Given the description of an element on the screen output the (x, y) to click on. 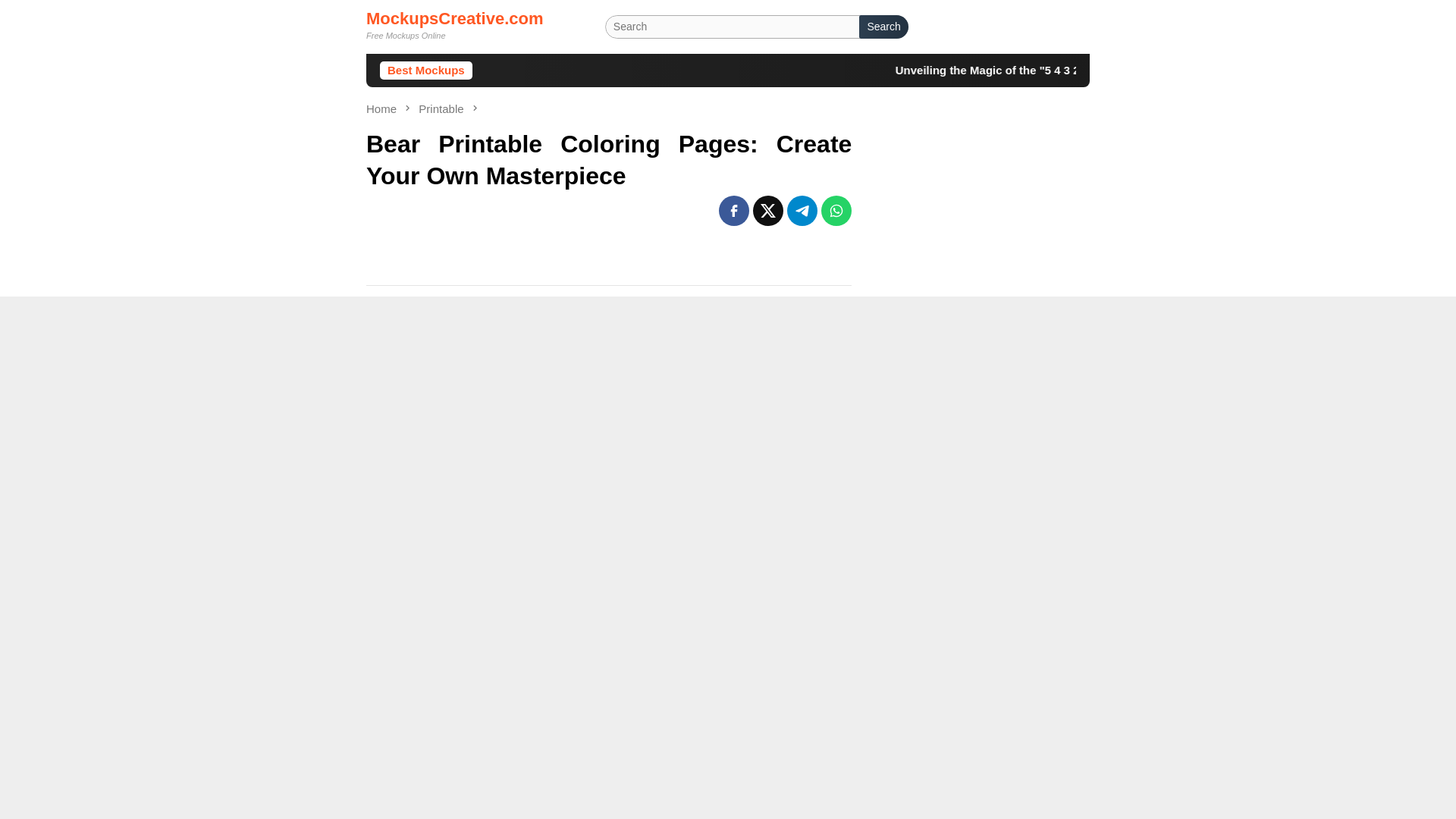
Home (382, 108)
Tweet this (767, 210)
Search (883, 26)
MockupsCreative.com (454, 18)
Share this (734, 210)
WhatsApp this (836, 210)
Printable (442, 108)
Telegram Share (801, 210)
MockupsCreative.com (454, 18)
